Given the description of an element on the screen output the (x, y) to click on. 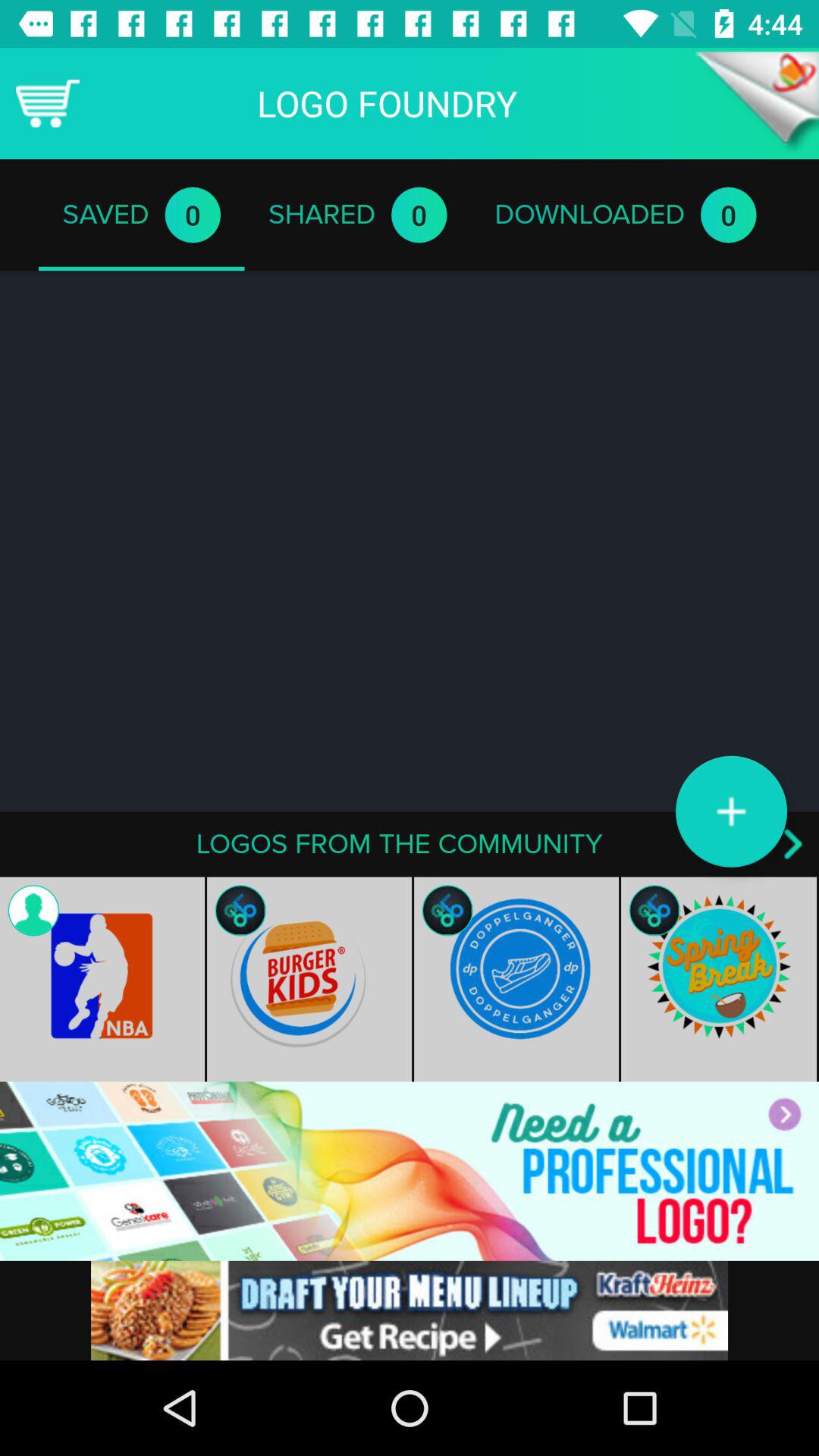
add logo (731, 811)
